Given the description of an element on the screen output the (x, y) to click on. 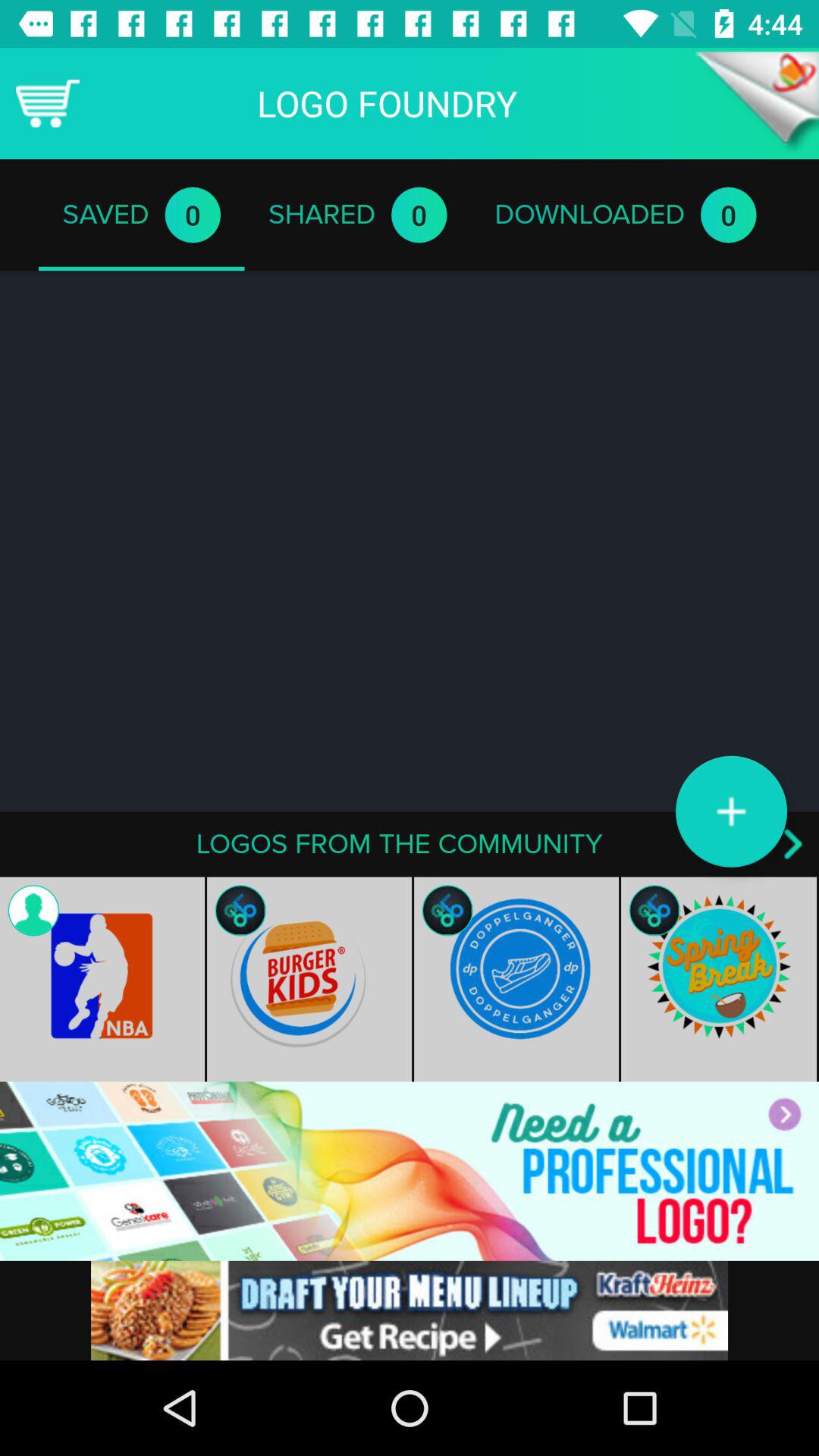
add logo (731, 811)
